Given the description of an element on the screen output the (x, y) to click on. 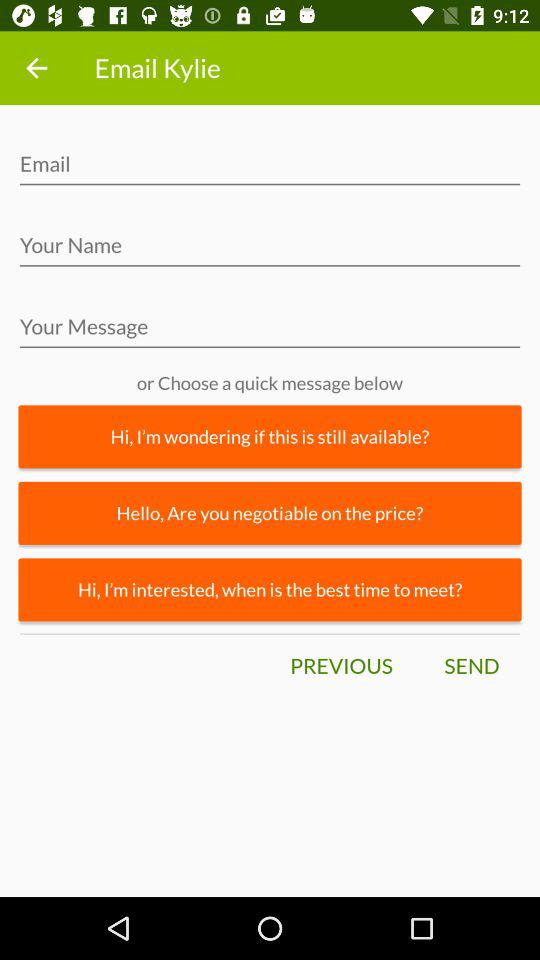
turn off the item above the hi i m item (269, 512)
